Given the description of an element on the screen output the (x, y) to click on. 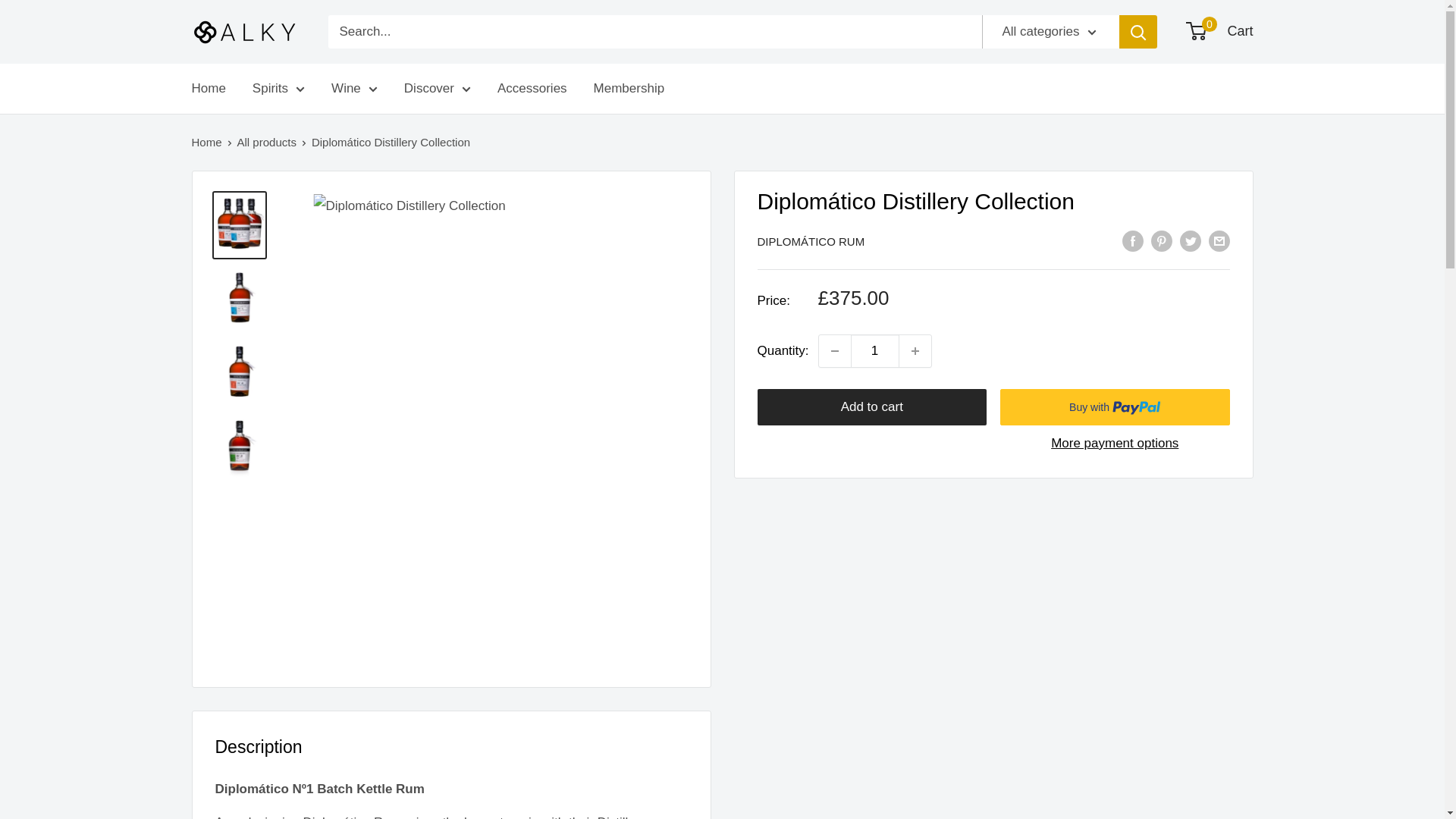
Decrease quantity by 1 (834, 350)
Increase quantity by 1 (915, 350)
1 (874, 350)
